Given the description of an element on the screen output the (x, y) to click on. 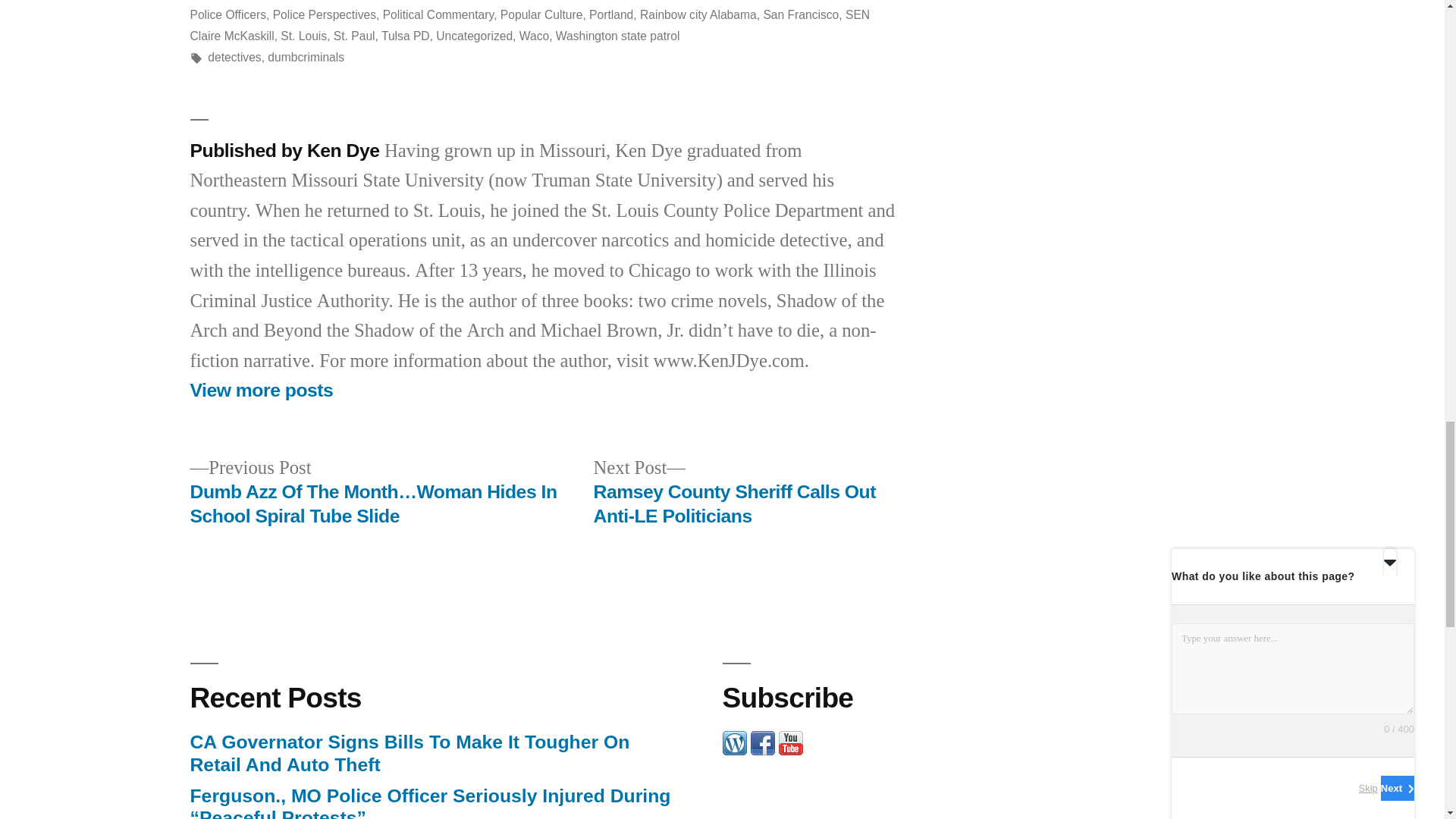
WordPress.com Blog (733, 749)
YouTube Channel (789, 749)
Connect on Facebook (762, 749)
